Given the description of an element on the screen output the (x, y) to click on. 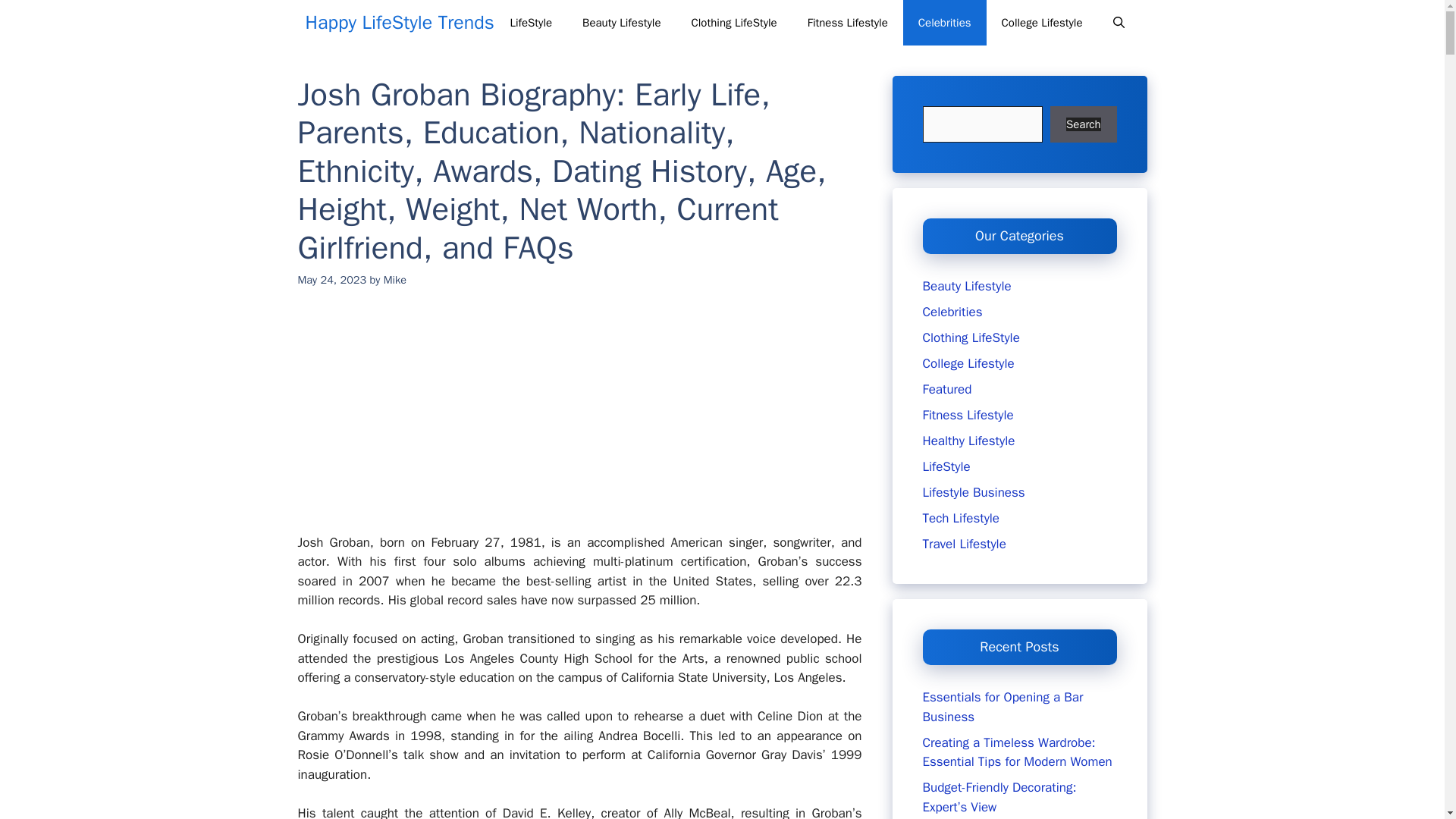
Happy LifeStyle Trends (398, 22)
Clothing LifeStyle (733, 22)
Mike (395, 279)
View all posts by Mike (395, 279)
LifeStyle (531, 22)
Advertisement (591, 420)
College Lifestyle (1042, 22)
Beauty Lifestyle (621, 22)
Celebrities (944, 22)
Fitness Lifestyle (847, 22)
